Given the description of an element on the screen output the (x, y) to click on. 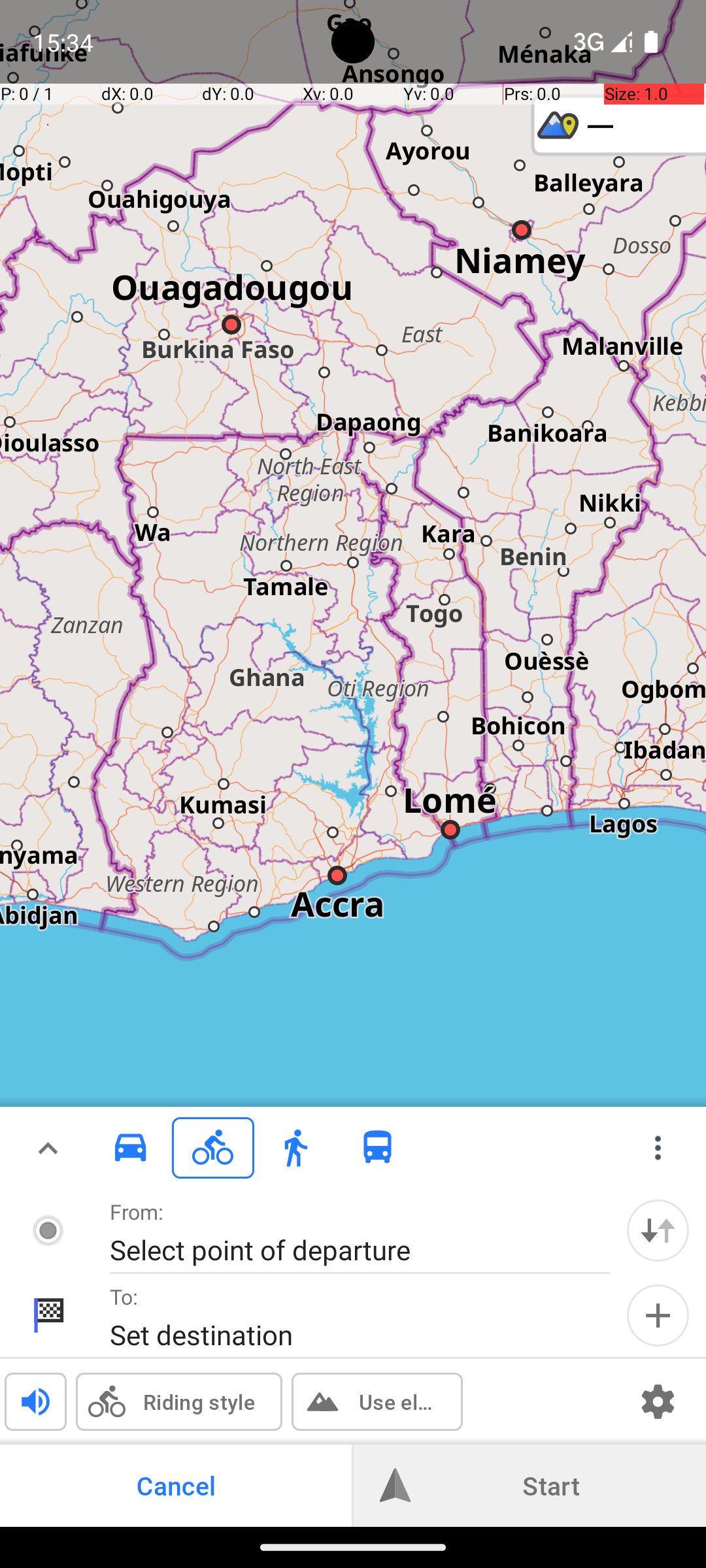
fold/unfold Element type: android.widget.ImageView (48, 1147)
Choose app modes Element type: android.widget.ImageView (657, 1147)
Driving Element type: android.widget.FrameLayout (130, 1147)
Cycling Element type: android.widget.FrameLayout (212, 1147)
Walking Element type: android.widget.FrameLayout (295, 1147)
Public transport Element type: android.widget.FrameLayout (377, 1147)
From: Element type: android.widget.TextView (136, 1211)
Select point of departure Element type: android.widget.TextView (345, 1249)
Swap Element type: android.widget.FrameLayout (657, 1230)
To: Element type: android.widget.TextView (123, 1296)
Set destination Element type: android.widget.TextView (345, 1334)
Driving unchecked Element type: android.widget.ImageView (130, 1147)
Cycling checked Element type: android.widget.ImageView (212, 1147)
Walking unchecked Element type: android.widget.ImageView (294, 1147)
Public transport unchecked Element type: android.widget.ImageView (377, 1147)
Riding style Element type: android.widget.TextView (198, 1401)
Use elevation data Element type: android.widget.TextView (396, 1401)
